Given the description of an element on the screen output the (x, y) to click on. 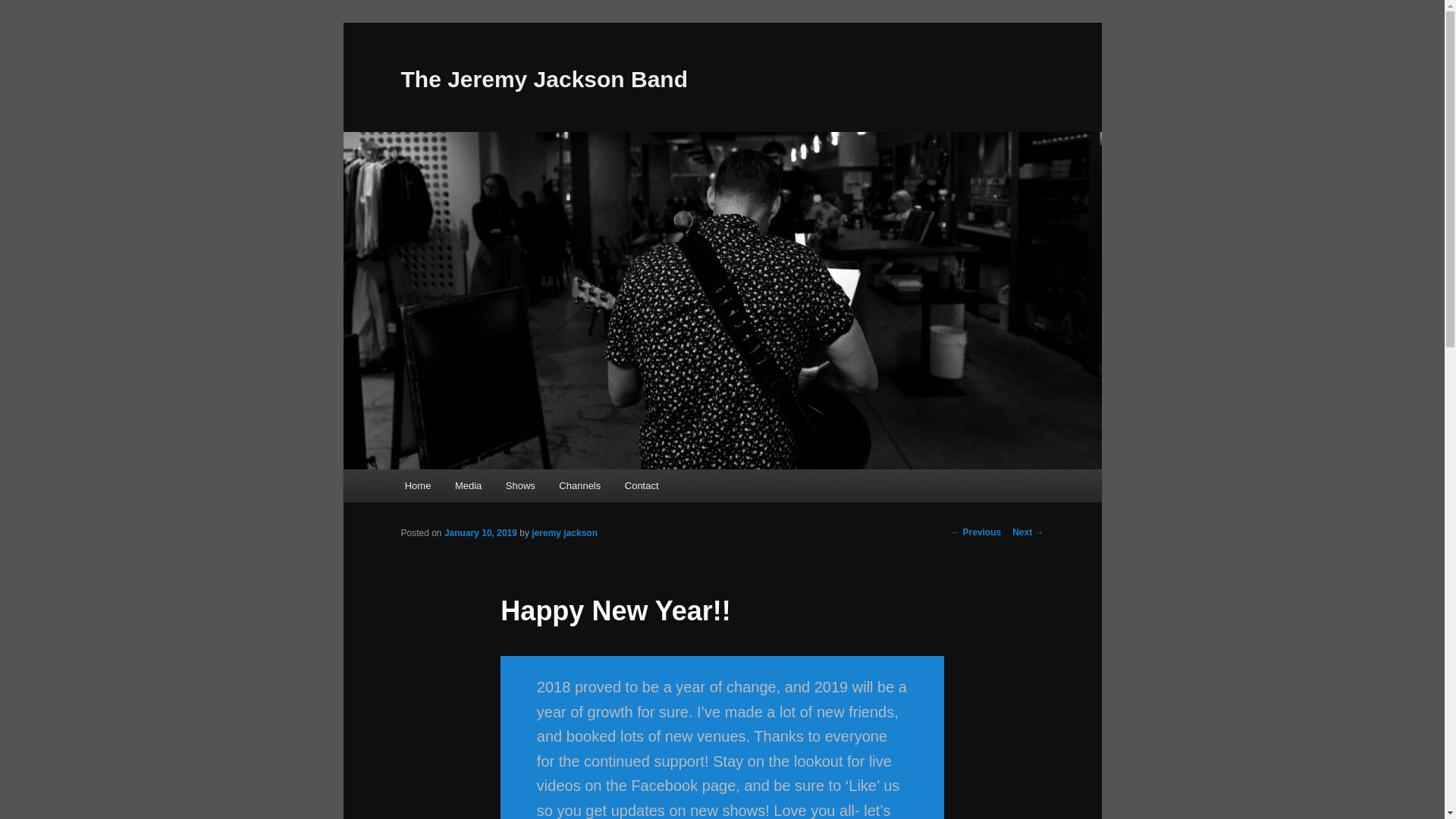
Contact (640, 485)
Channels (579, 485)
Media (467, 485)
January 10, 2019 (480, 532)
4:42 pm (480, 532)
The Jeremy Jackson Band (543, 78)
View all posts by jeremy jackson (563, 532)
Home (417, 485)
jeremy jackson (563, 532)
